Given the description of an element on the screen output the (x, y) to click on. 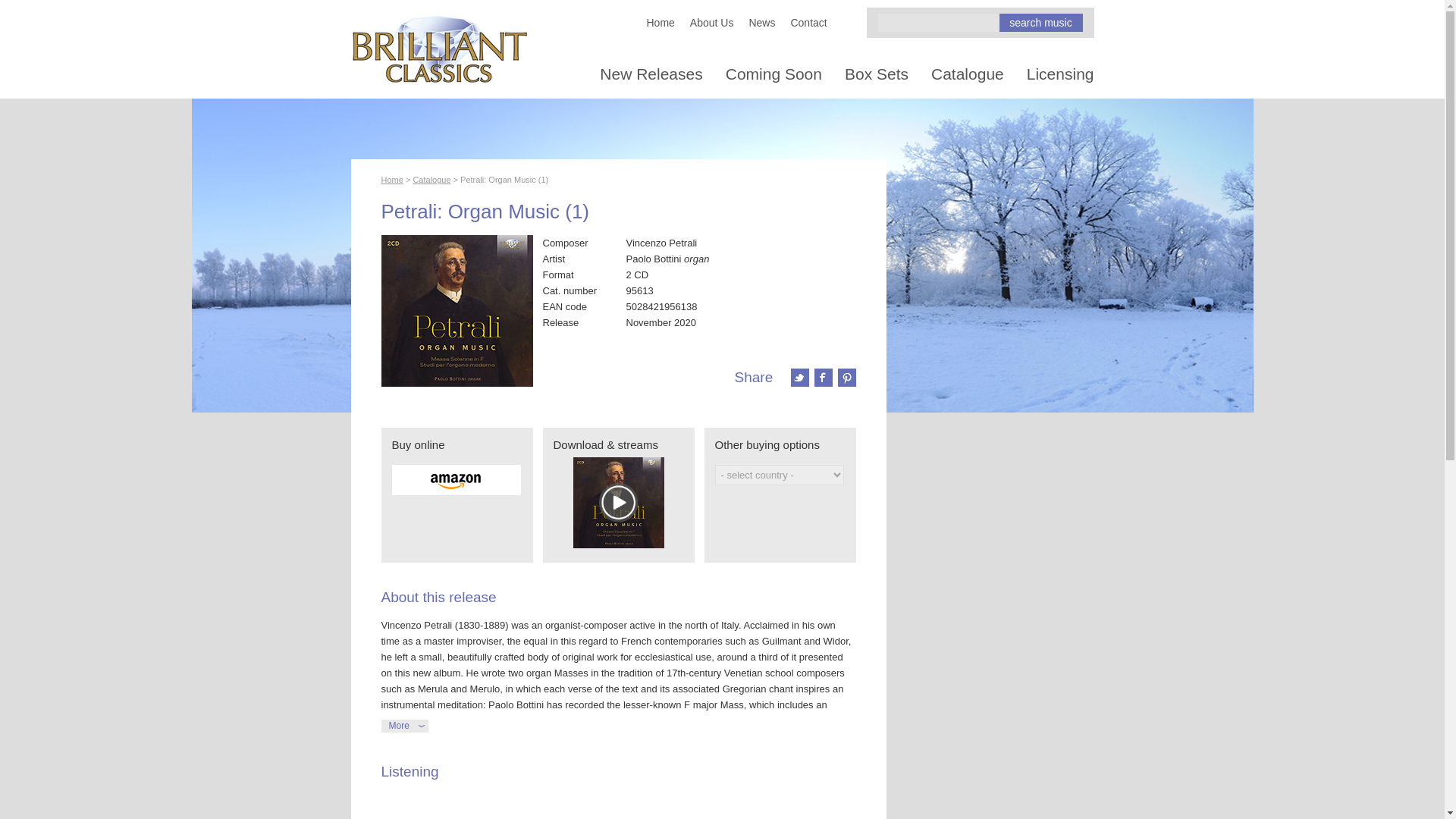
search music (1040, 22)
search music (1040, 22)
Contact (808, 22)
Home (660, 22)
New Releases (650, 73)
Catalogue (967, 73)
Box Sets (876, 73)
About Us (711, 22)
News (761, 22)
Licensing (1060, 73)
Coming Soon (773, 73)
Home (391, 179)
Catalogue (430, 179)
search music (1040, 22)
